Given the description of an element on the screen output the (x, y) to click on. 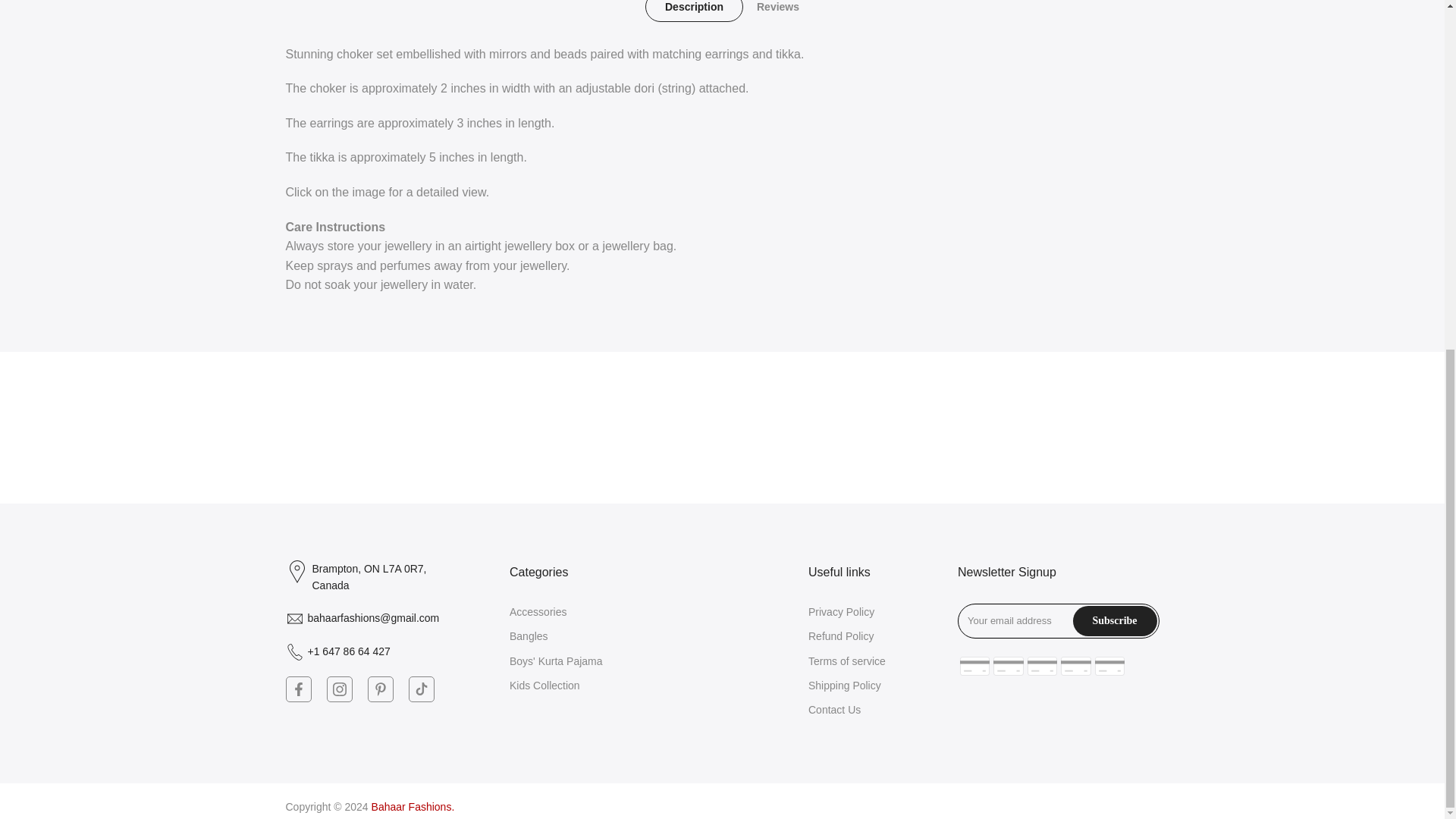
Follow on Facebook (298, 688)
Follow on Instagram (339, 688)
Follow on Pinterest (379, 688)
Follow on Tiktok (420, 688)
